Given the description of an element on the screen output the (x, y) to click on. 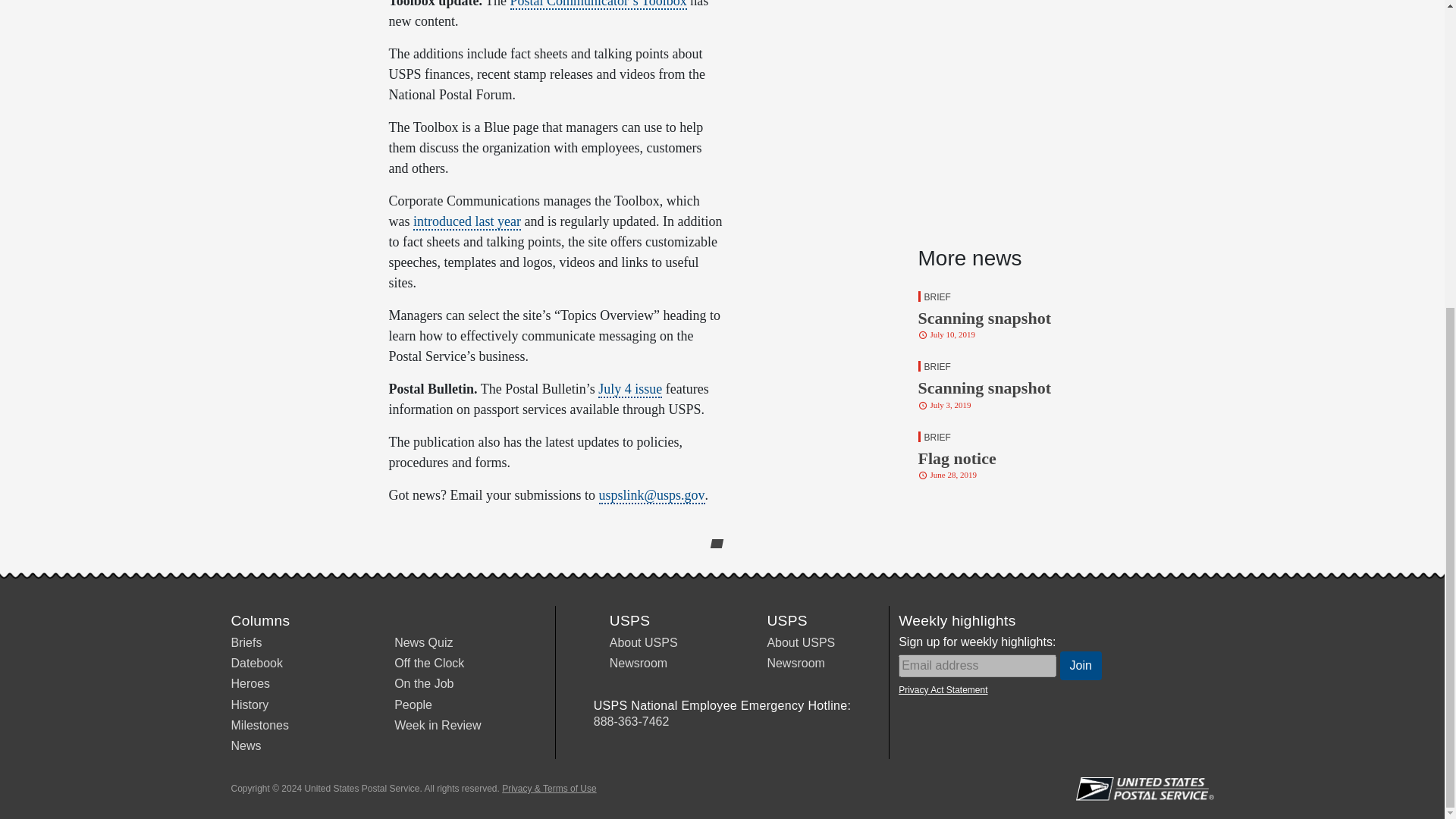
July 4 issue (630, 389)
People (1027, 455)
Join (413, 703)
Briefs (1080, 665)
Off the Clock (246, 642)
News (429, 662)
News Quiz (245, 745)
On the Job (423, 642)
Datebook (1027, 314)
Milestones (423, 683)
Heroes (256, 662)
History (259, 725)
